Given the description of an element on the screen output the (x, y) to click on. 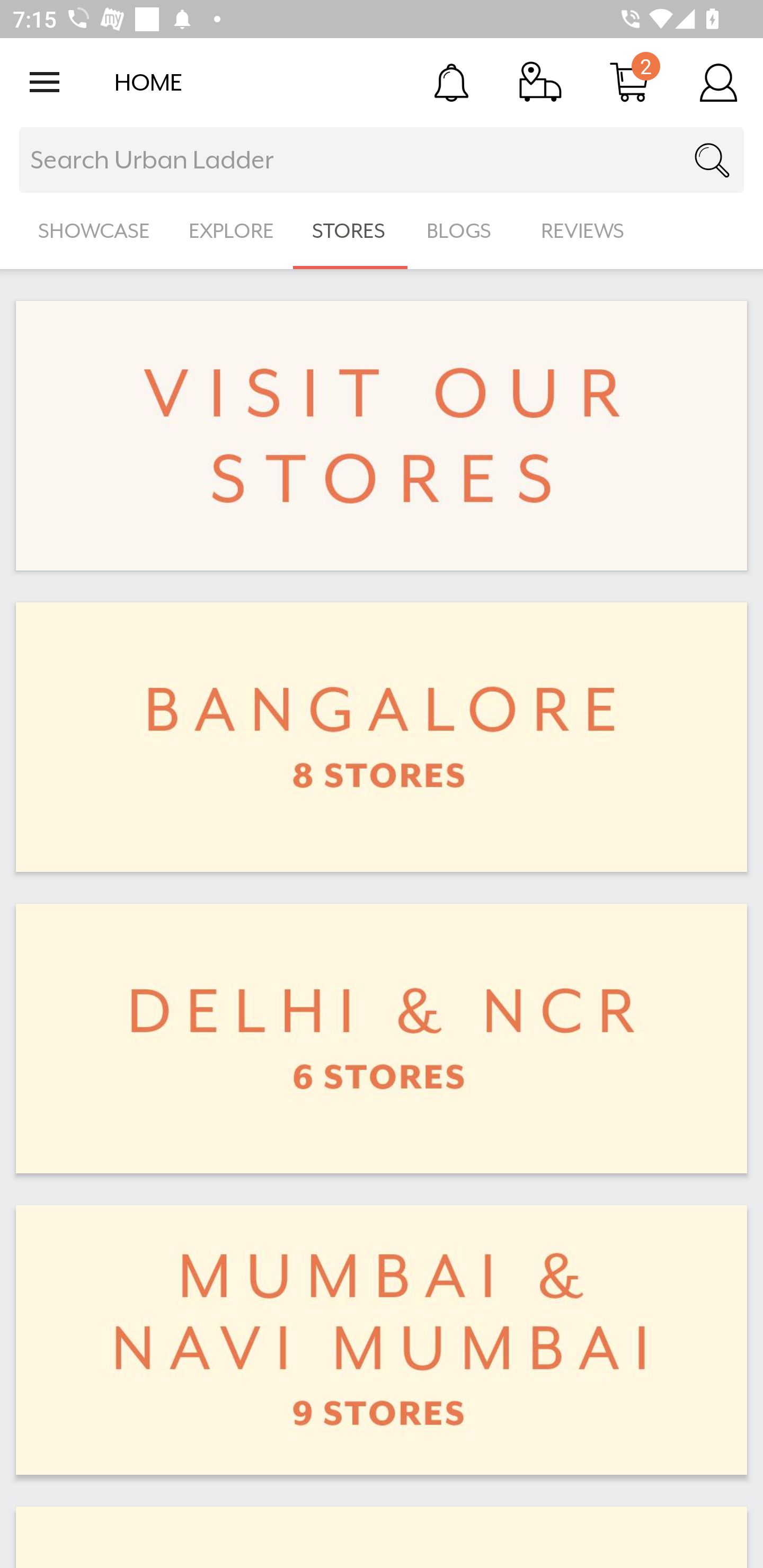
Open navigation drawer (44, 82)
Notification (450, 81)
Track Order (540, 81)
Cart (629, 81)
Account Details (718, 81)
Search Urban Ladder  (381, 159)
SHOWCASE (94, 230)
EXPLORE (230, 230)
STORES (349, 230)
BLOGS (464, 230)
REVIEWS (582, 230)
